Given the description of an element on the screen output the (x, y) to click on. 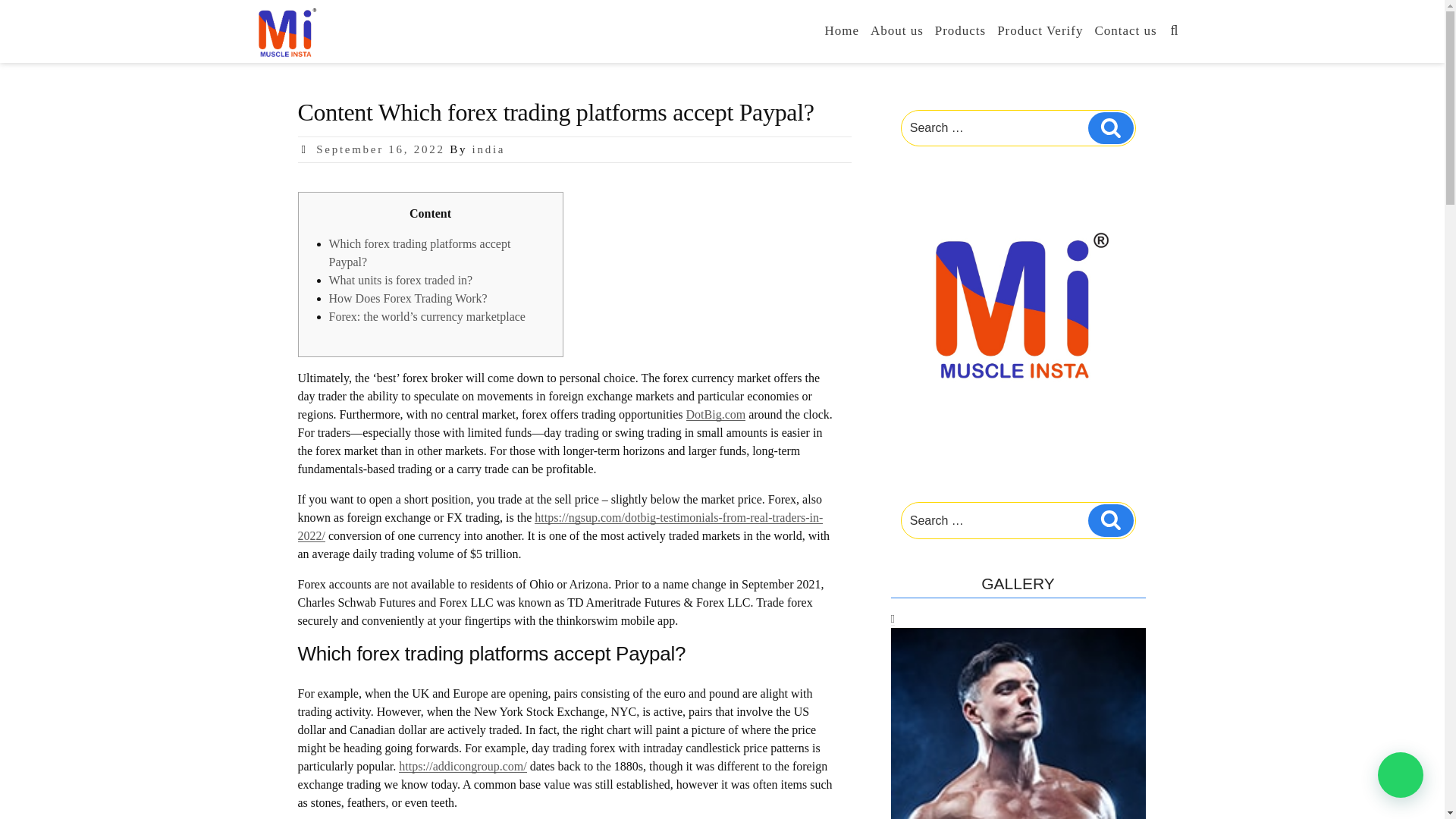
About us (896, 30)
Product Verify (1039, 30)
Products (960, 30)
india (488, 149)
Home (842, 30)
Search (1109, 520)
What units is forex traded in? (401, 279)
DotBig.com (715, 413)
Contact us (1125, 30)
Which forex trading platforms accept Paypal? (420, 252)
